Given the description of an element on the screen output the (x, y) to click on. 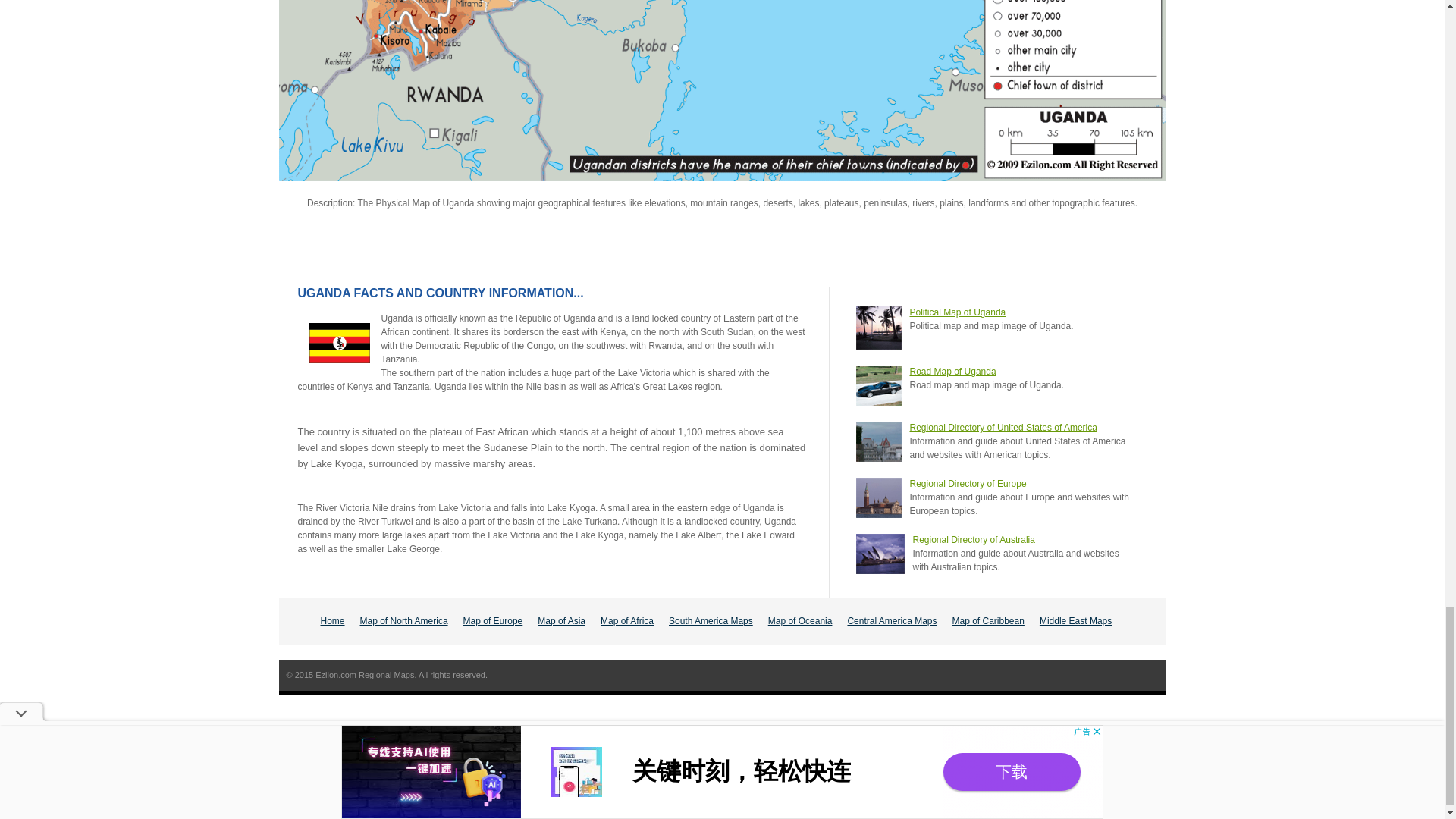
Home (331, 620)
Map of Oceania (800, 620)
Regional Directory of Australia (973, 539)
Road Map of Uganda (952, 371)
Map of Africa (626, 620)
Map of South America (710, 620)
Map of Oceania (800, 620)
Map of North America (403, 620)
Map of Africa (626, 620)
Regional Directory of Europe (968, 483)
South America Maps (710, 620)
Political Map of Uganda (958, 312)
Map of North America (403, 620)
Middle East Maps (1075, 620)
Map of Asia (561, 620)
